Given the description of an element on the screen output the (x, y) to click on. 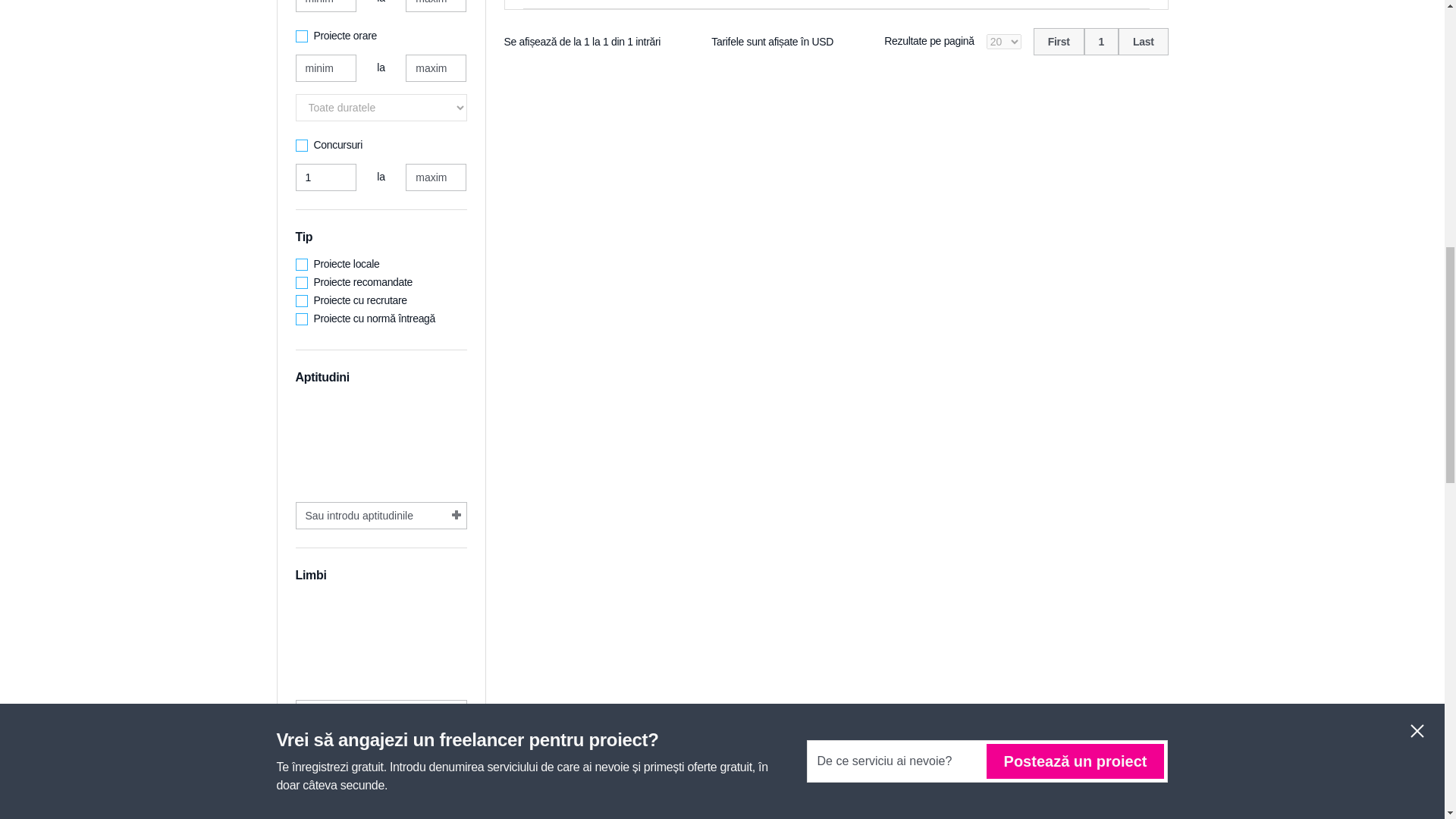
1 (325, 176)
Last (1143, 41)
First (1058, 41)
1 (1101, 41)
